Given the description of an element on the screen output the (x, y) to click on. 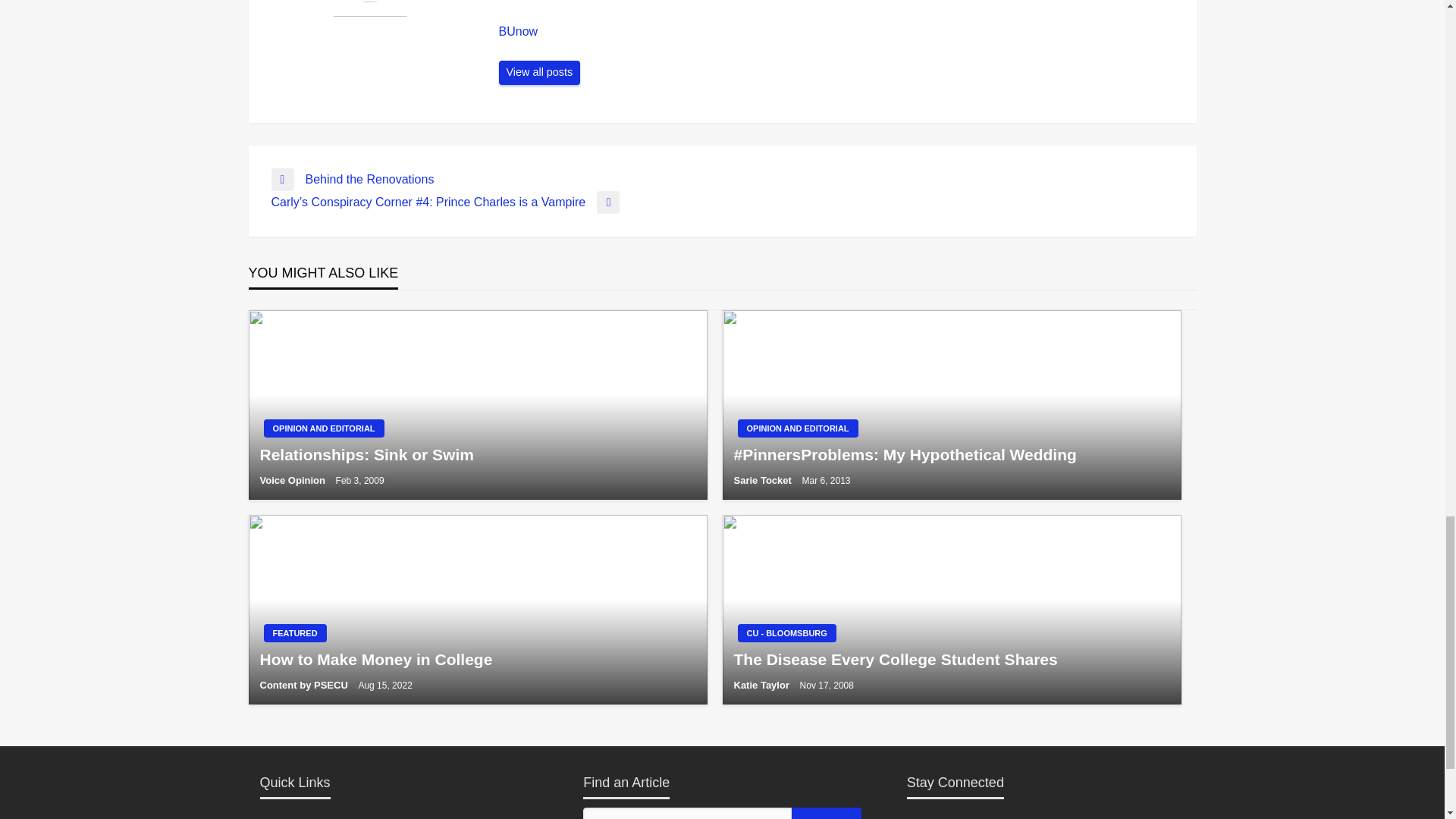
BUnow (839, 31)
Search (826, 813)
Search (826, 813)
BUnow (539, 72)
